Given the description of an element on the screen output the (x, y) to click on. 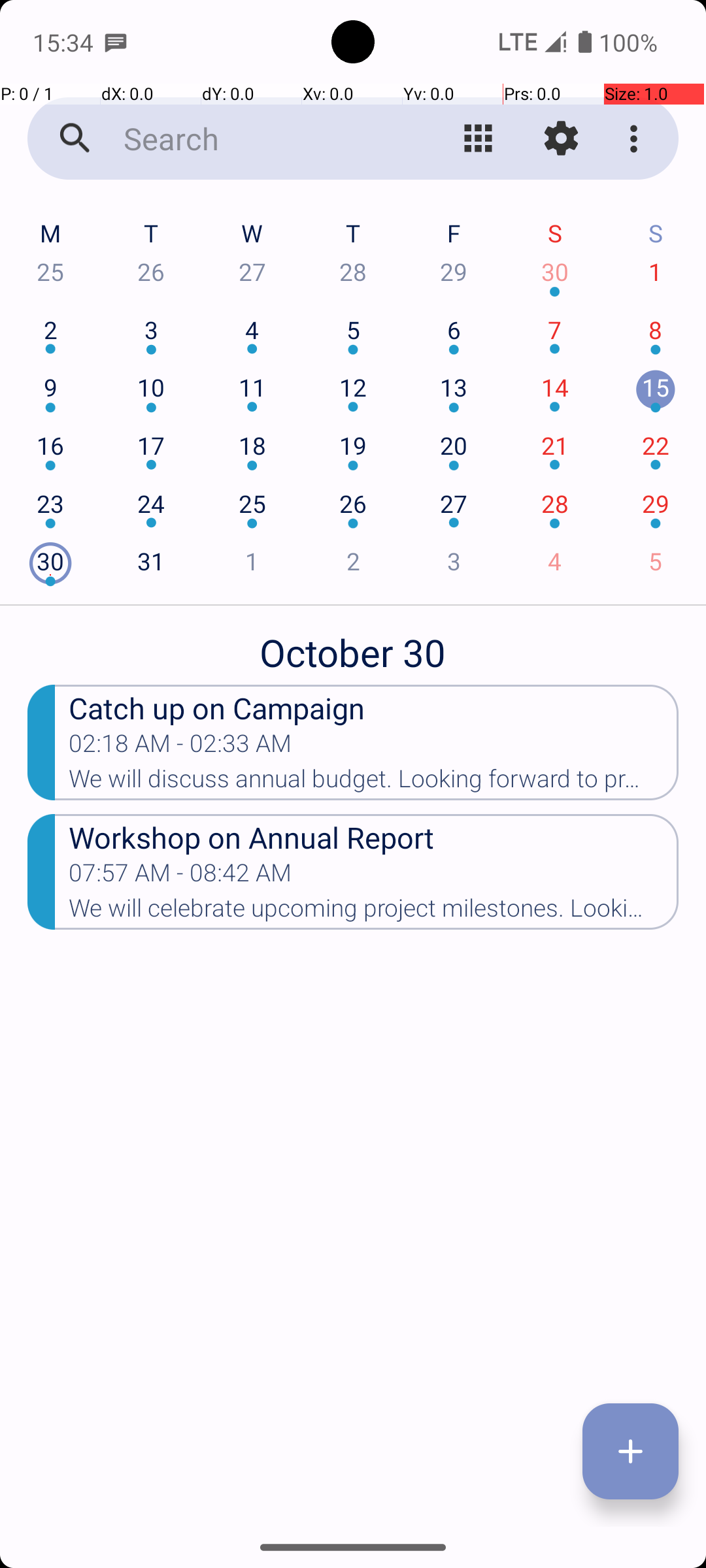
October 30 Element type: android.widget.TextView (352, 644)
02:18 AM - 02:33 AM Element type: android.widget.TextView (179, 747)
We will discuss annual budget. Looking forward to productive discussions. Element type: android.widget.TextView (373, 782)
07:57 AM - 08:42 AM Element type: android.widget.TextView (179, 876)
We will celebrate upcoming project milestones. Looking forward to productive discussions. Element type: android.widget.TextView (373, 911)
